Given the description of an element on the screen output the (x, y) to click on. 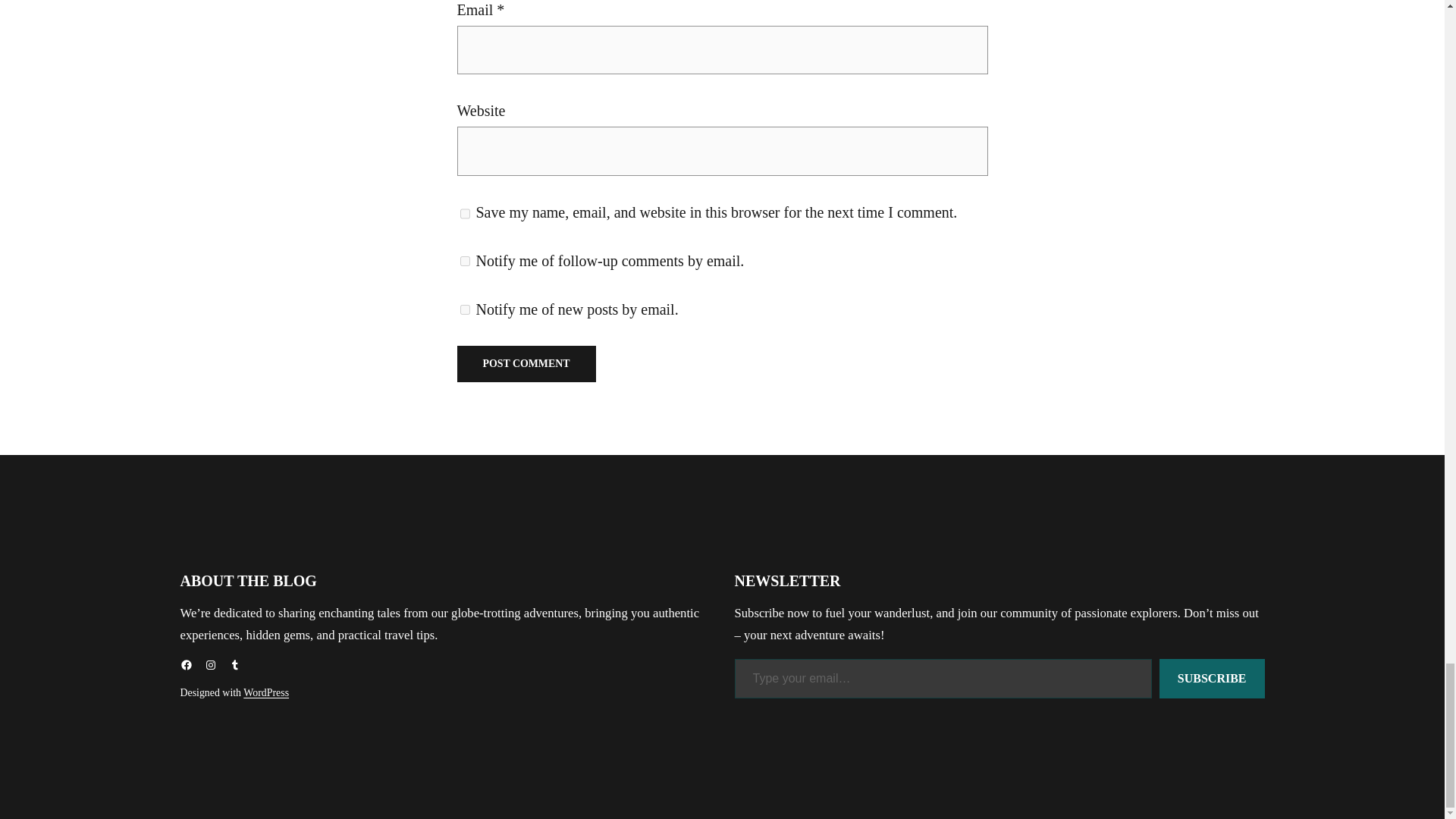
Post Comment (526, 363)
subscribe (464, 309)
Please fill in this field. (942, 679)
subscribe (464, 261)
Post Comment (526, 363)
